Given the description of an element on the screen output the (x, y) to click on. 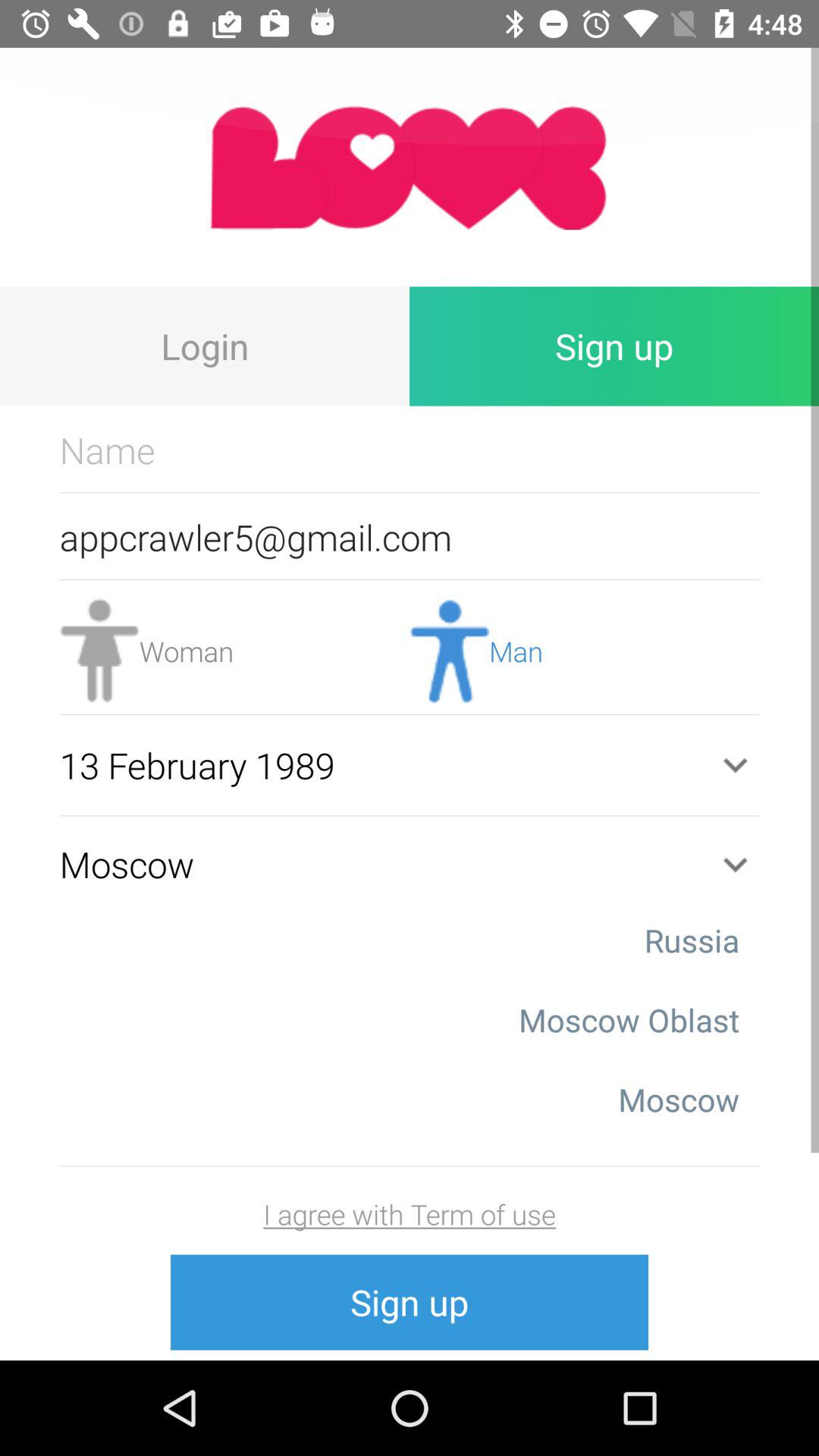
type in my name (409, 449)
